Given the description of an element on the screen output the (x, y) to click on. 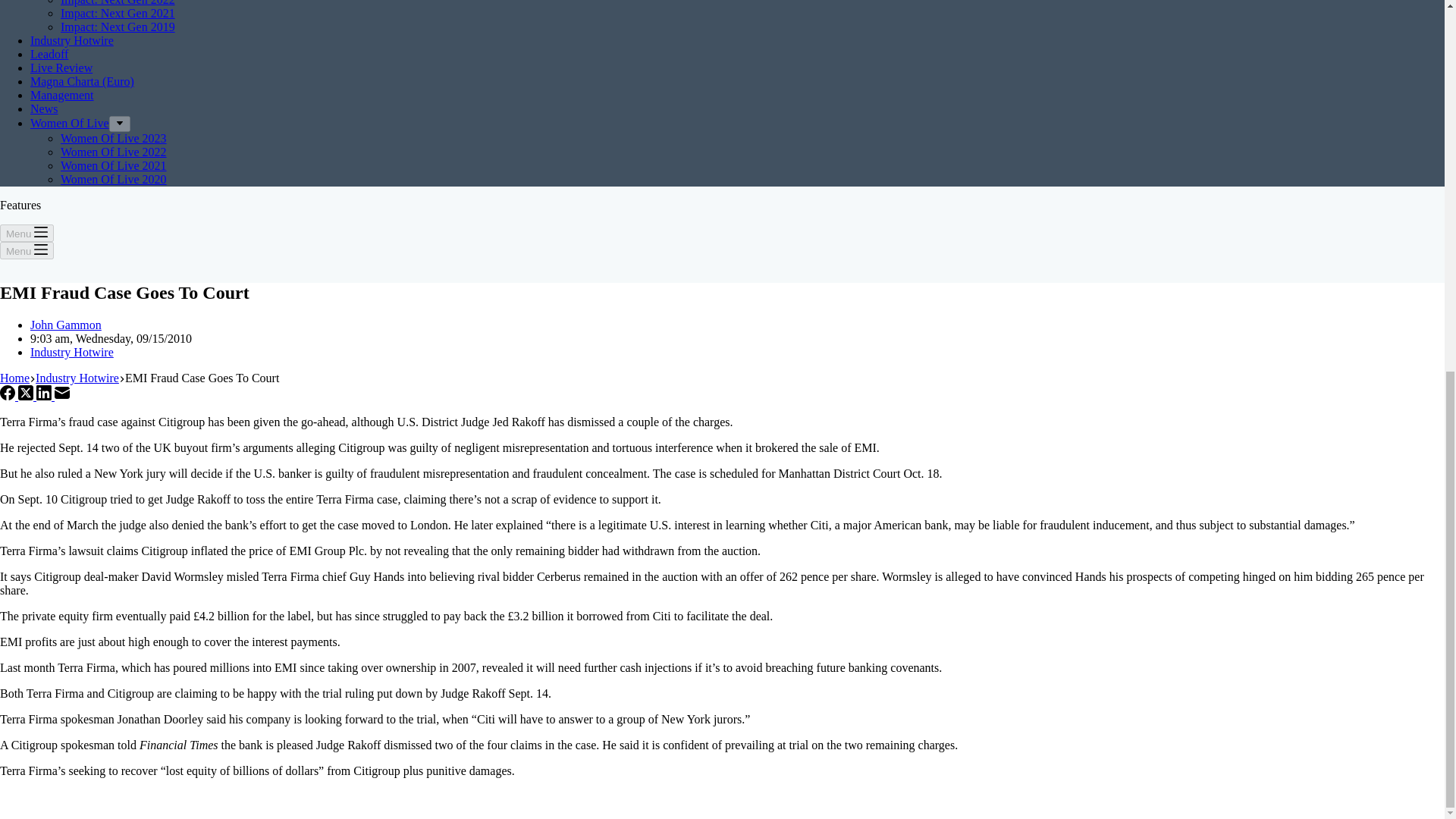
Posts by John Gammon (65, 324)
